Given the description of an element on the screen output the (x, y) to click on. 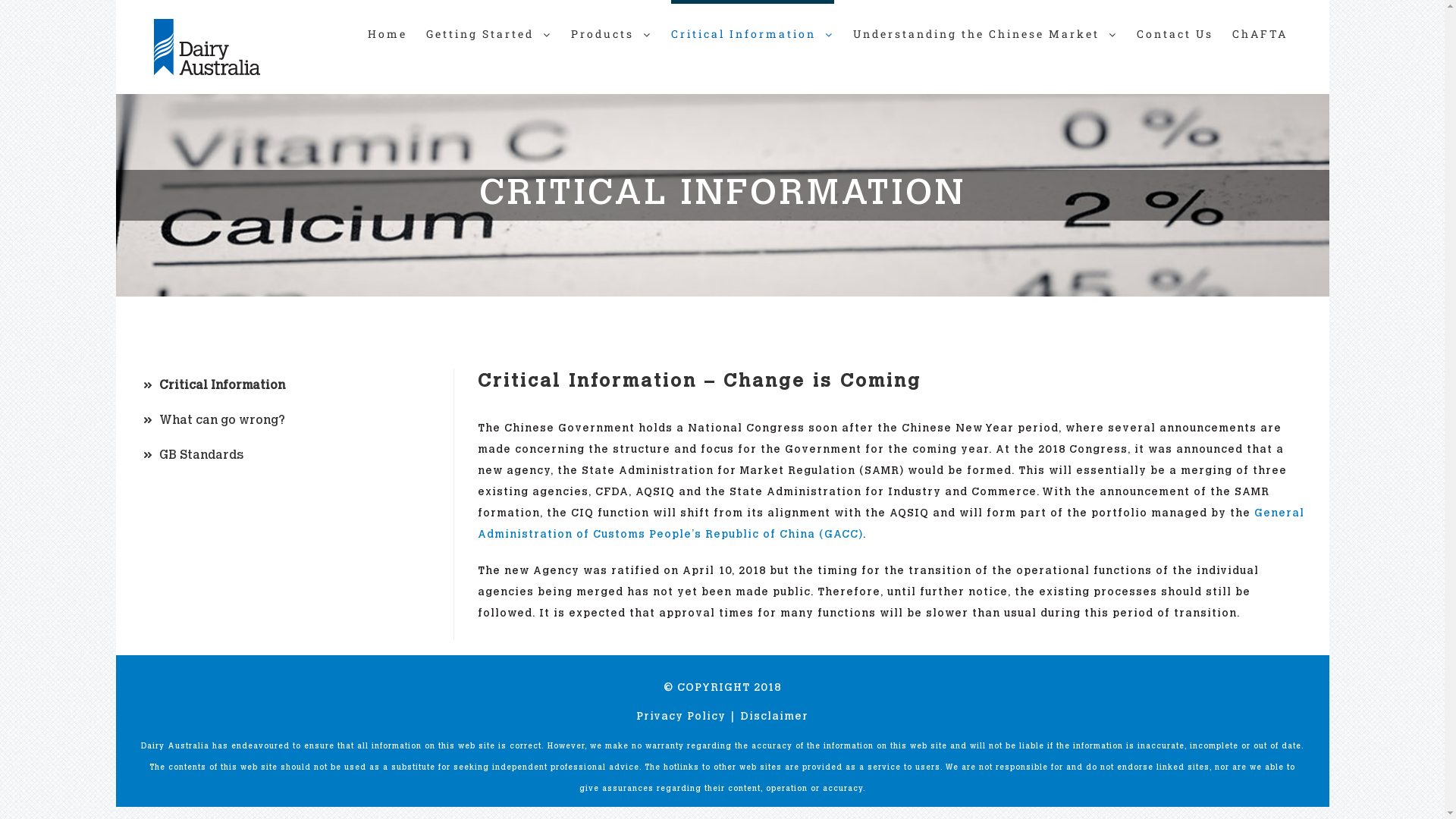
Understanding the Chinese Market Element type: text (984, 31)
Critical Information Element type: text (272, 385)
What can go wrong? Element type: text (272, 420)
ChAFTA Element type: text (1258, 31)
Home Element type: text (386, 31)
Products Element type: text (610, 31)
GB Standards Element type: text (272, 455)
Privacy Policy Element type: text (680, 717)
Critical Information Element type: text (751, 31)
Getting Started Element type: text (489, 31)
Disclaimer Element type: text (774, 717)
Contact Us Element type: text (1173, 31)
